Given the description of an element on the screen output the (x, y) to click on. 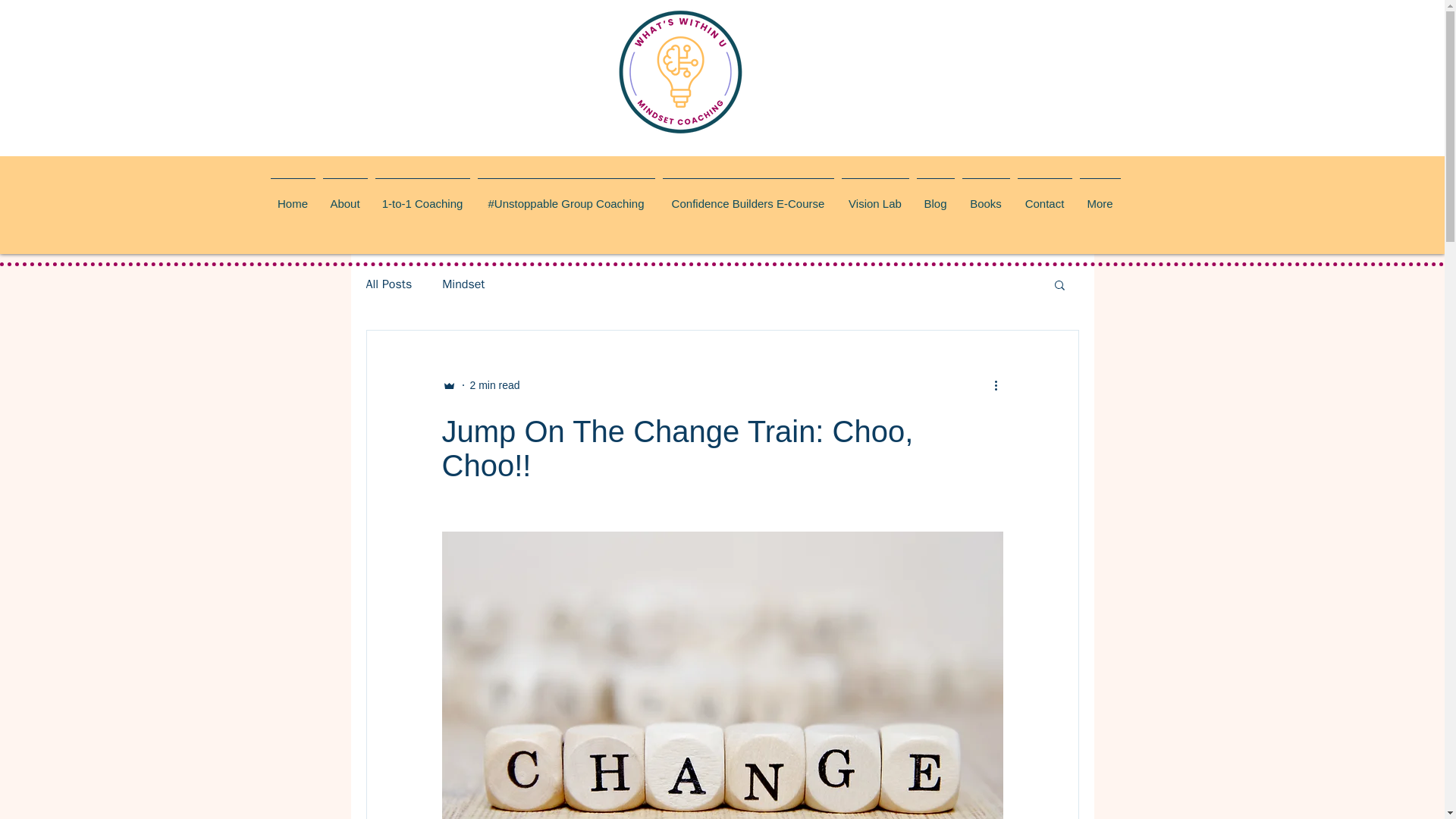
Home (292, 197)
Books (985, 197)
Blog (935, 197)
Confidence Builders E-Course (747, 197)
2 min read (494, 385)
1-to-1 Coaching (422, 197)
About (344, 197)
Contact (1044, 197)
Mindset (463, 283)
Vision Lab (874, 197)
All Posts (388, 283)
